Given the description of an element on the screen output the (x, y) to click on. 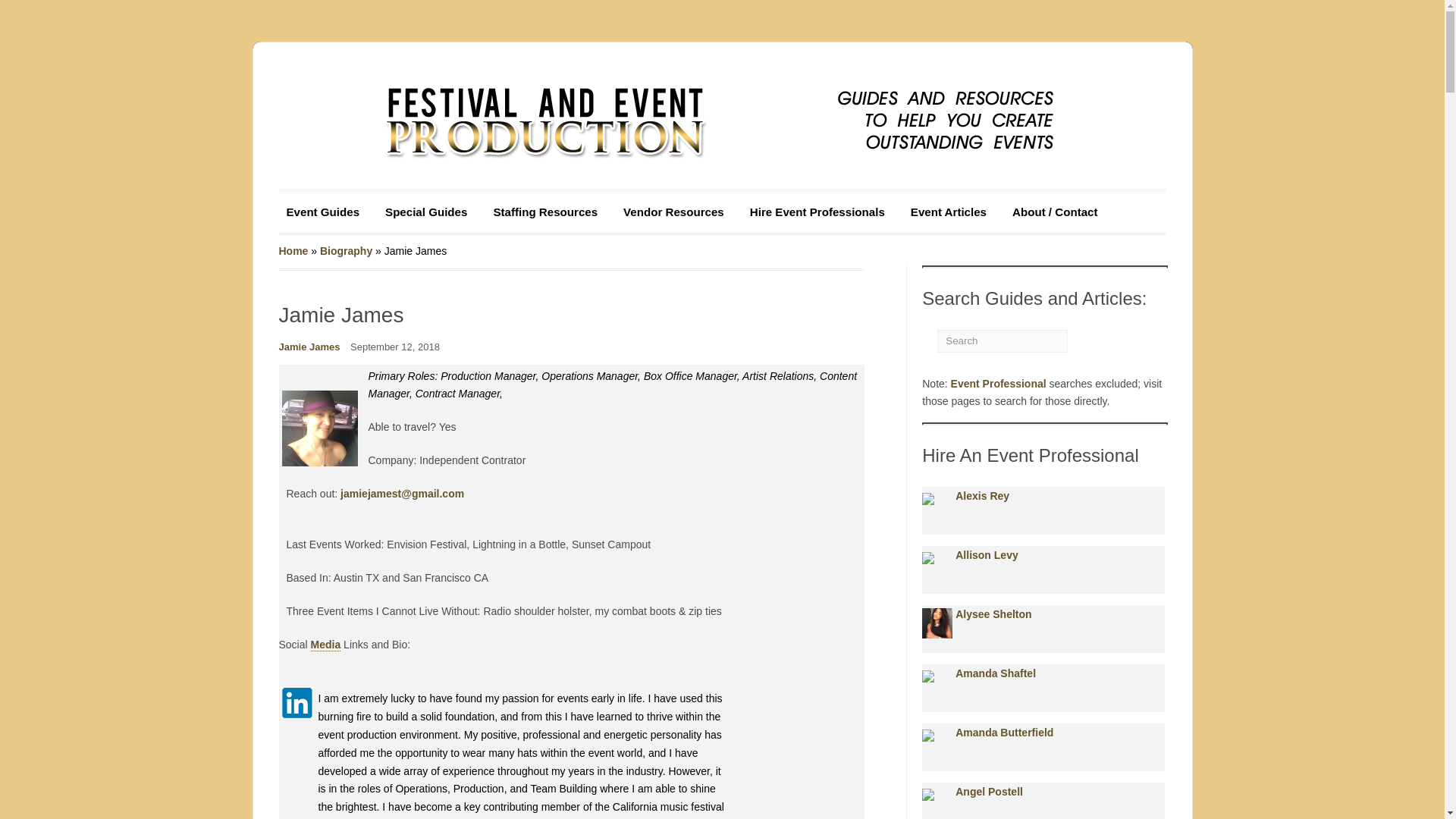
Posts by Jamie James (309, 346)
Vendor Resources (673, 212)
Search (1002, 340)
Search (1078, 340)
Staffing Resources (544, 212)
Special Guides (425, 212)
Event Guides (323, 212)
